Given the description of an element on the screen output the (x, y) to click on. 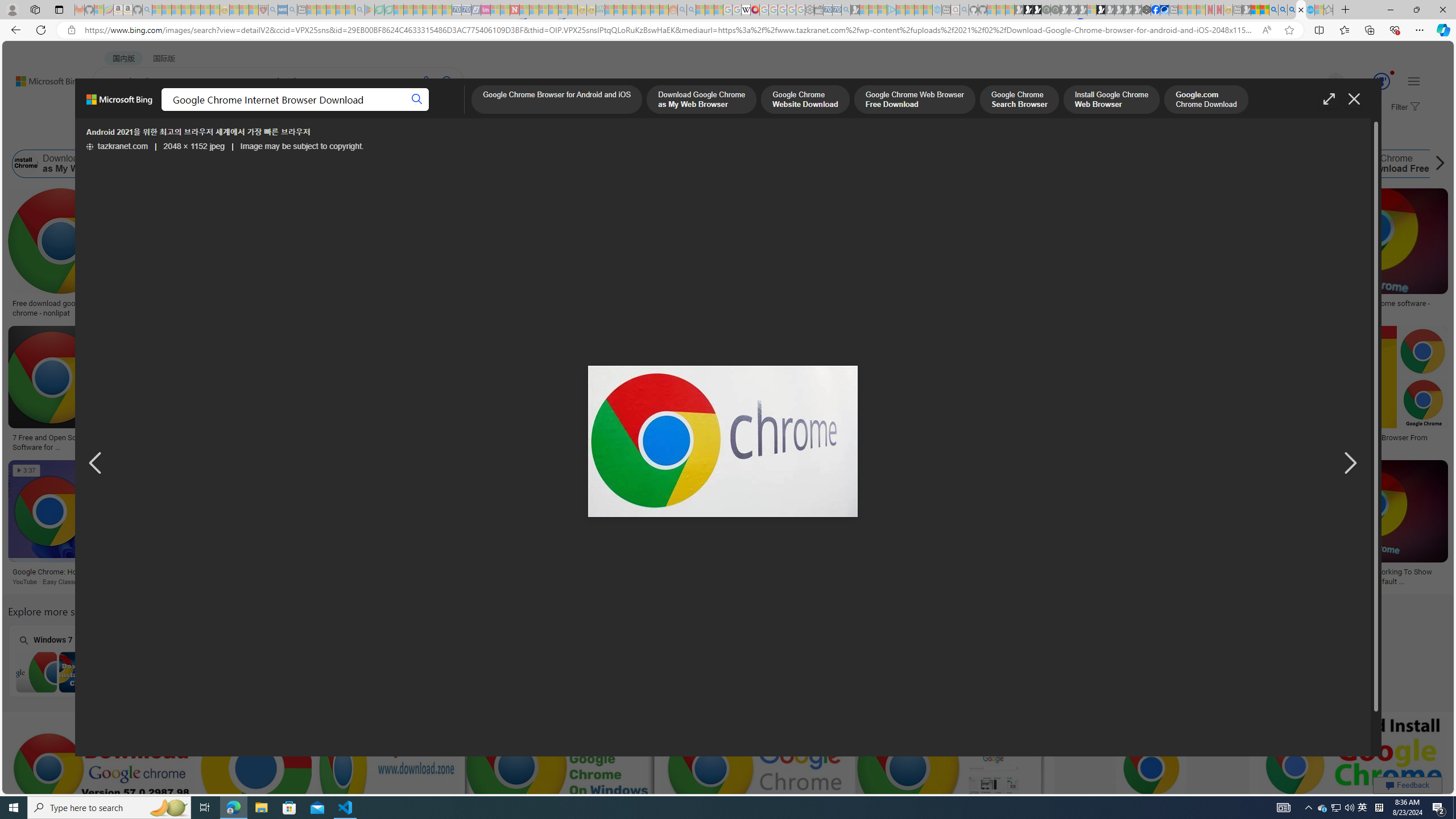
Download Files Google Chrome Browser Download - vrogue.co (716, 307)
Lambang ChromeSave (850, 524)
Free download google chrome - nonlipatSave (62, 254)
Download Google Chrome As My Web Browser (281, 571)
Microsoft Start - Sleeping (919, 9)
Descargar Google Chrome Para Pc 2021 Windows 7810 (196, 437)
Download video online chrome - hresadish (188, 307)
The Weather Channel - MSN - Sleeping (175, 9)
Type (212, 135)
Expert Portfolios - Sleeping (636, 9)
